Given the description of an element on the screen output the (x, y) to click on. 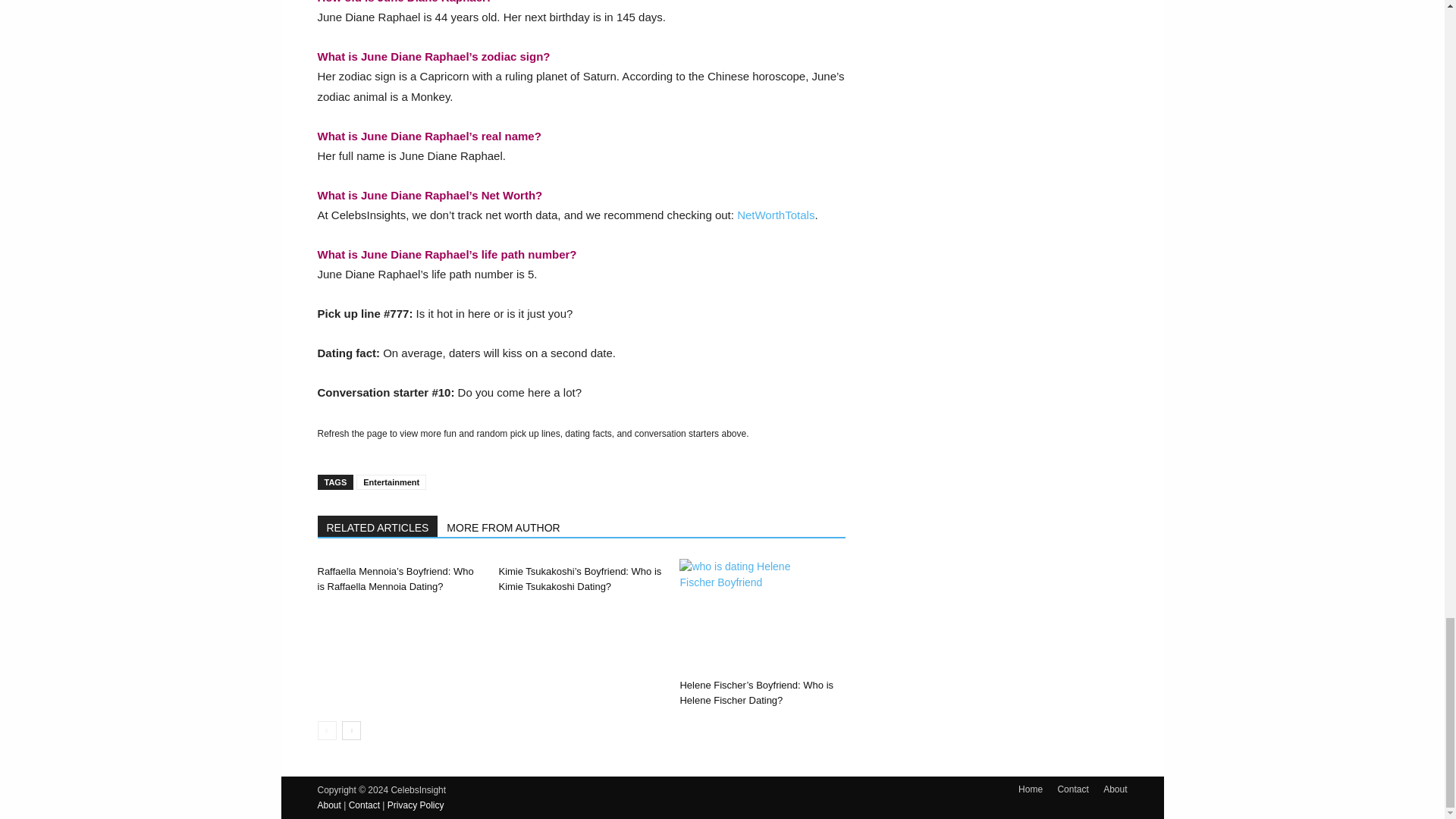
RELATED ARTICLES (377, 526)
Entertainment (391, 482)
NetWorthTotals (774, 214)
MORE FROM AUTHOR (503, 526)
June Diane Raphael net worth status (774, 214)
